Given the description of an element on the screen output the (x, y) to click on. 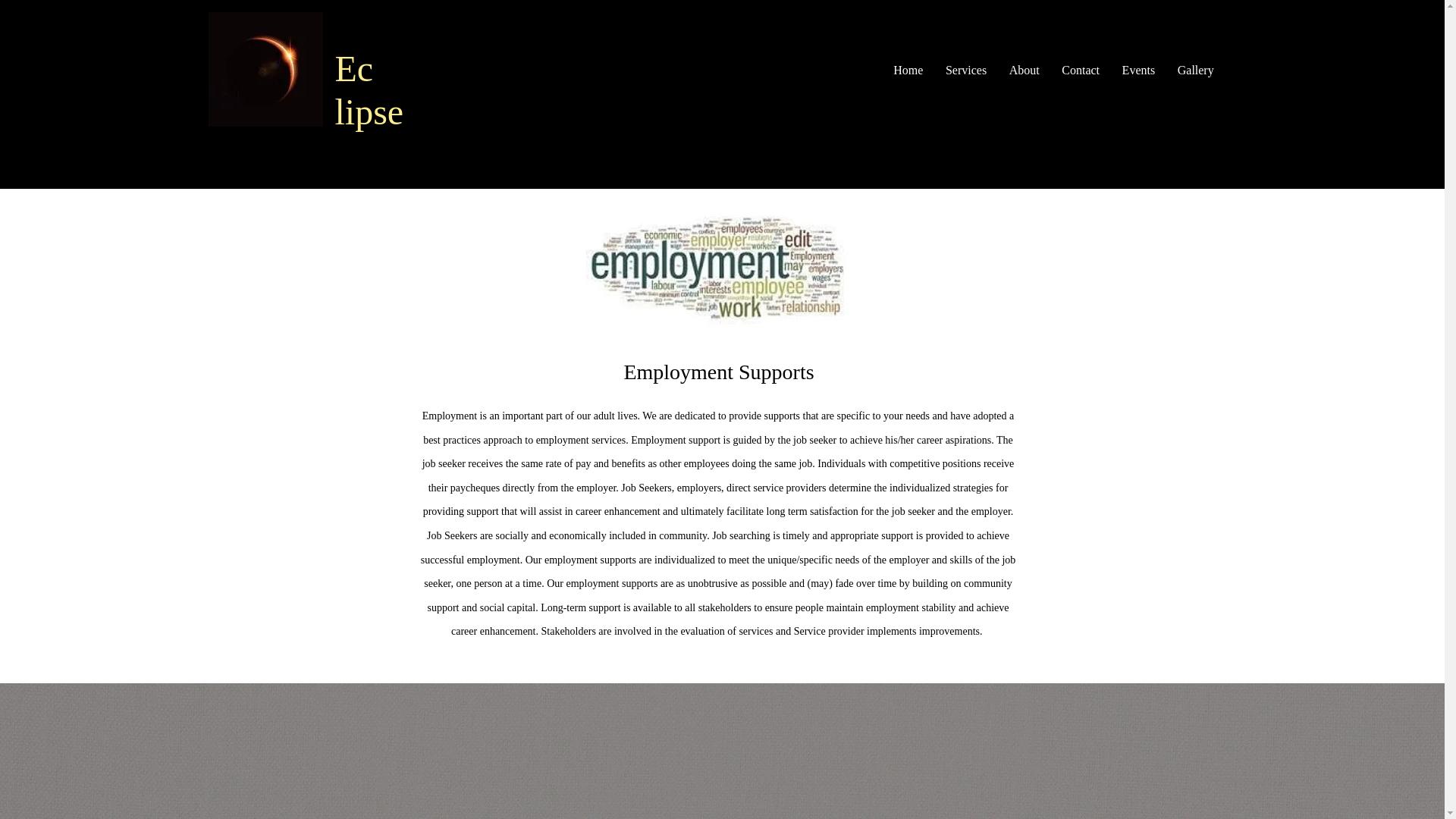
Contact (1080, 70)
About (1024, 70)
Events (1138, 70)
Home (908, 70)
Gallery (1195, 70)
Services (965, 70)
